Given the description of an element on the screen output the (x, y) to click on. 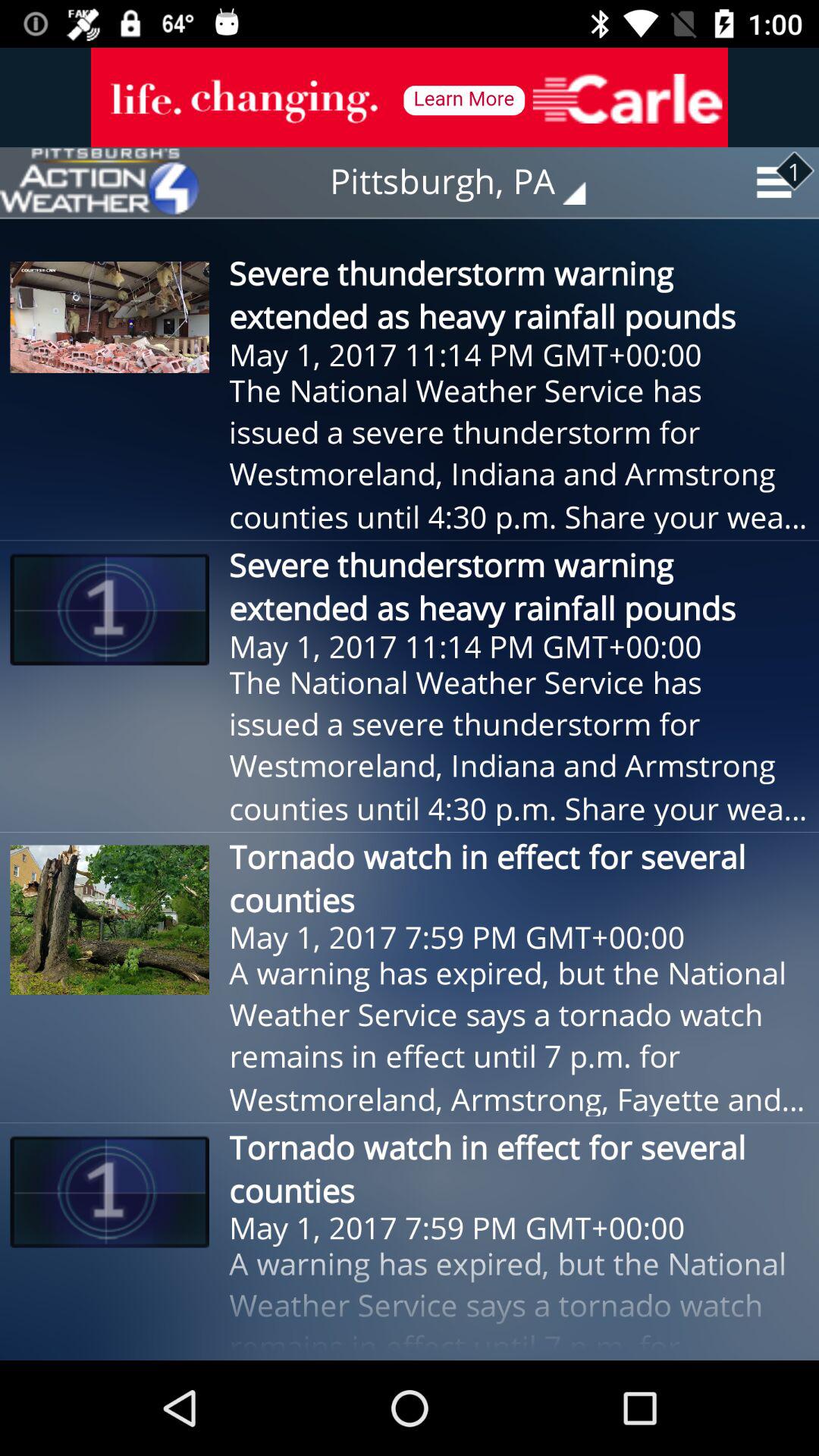
tap the pittsburgh, pa item (468, 182)
